Given the description of an element on the screen output the (x, y) to click on. 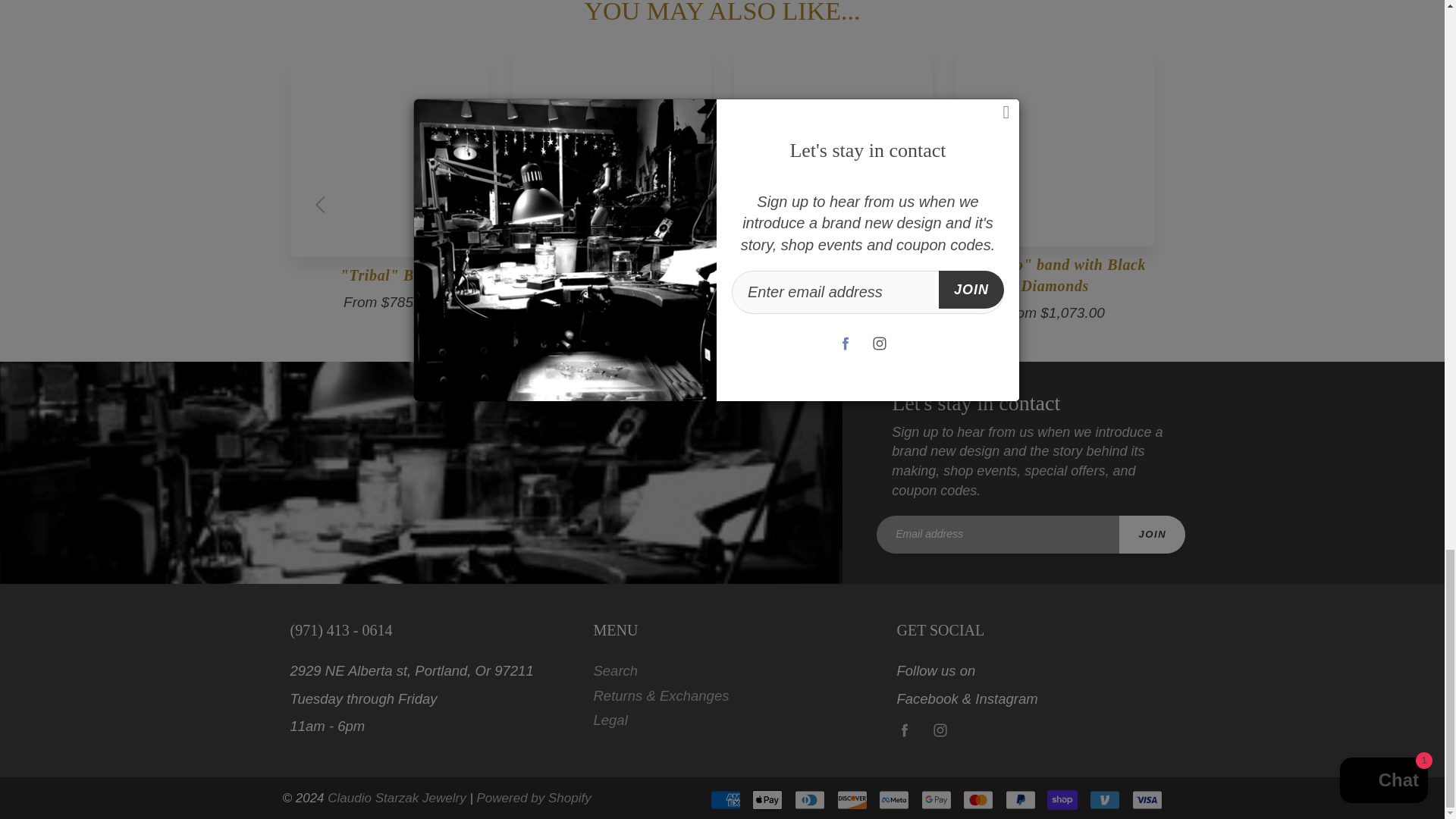
Shop Pay (1061, 799)
Meta Pay (893, 799)
Facebook (904, 729)
Discover (852, 799)
Mastercard (977, 799)
PayPal (1020, 799)
Apple Pay (767, 799)
Google Pay (936, 799)
Venmo (1104, 799)
Diners Club (809, 799)
American Express (725, 799)
